Given the description of an element on the screen output the (x, y) to click on. 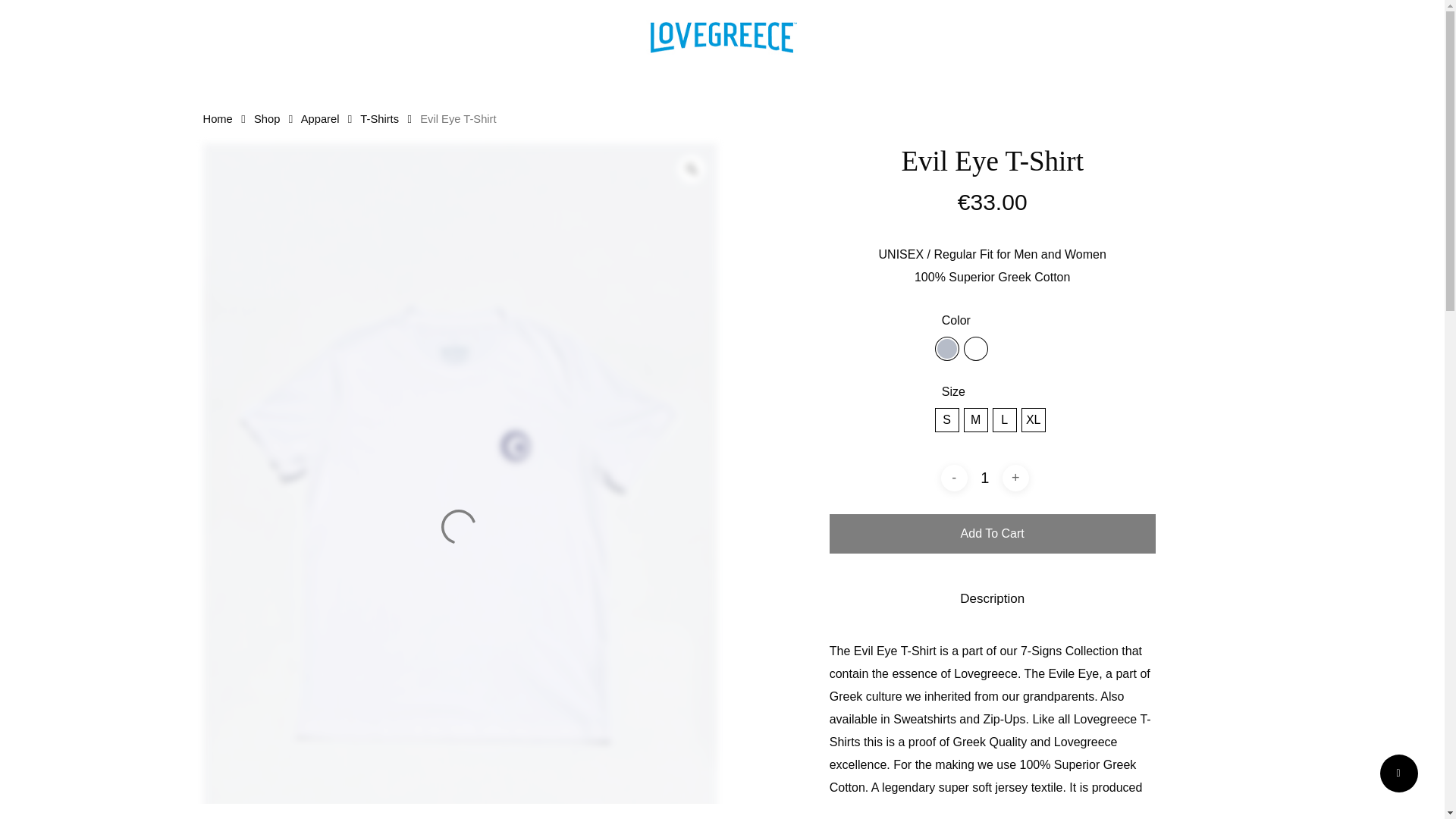
Add To Cart (992, 533)
M (975, 419)
S (947, 419)
- (954, 478)
Shop (266, 119)
Apparel (320, 119)
Qty (985, 478)
Heather Grey (947, 348)
Description (992, 599)
XL (1033, 419)
White (975, 348)
1 (985, 478)
T-Shirts (378, 119)
Home (217, 119)
L (1004, 419)
